Given the description of an element on the screen output the (x, y) to click on. 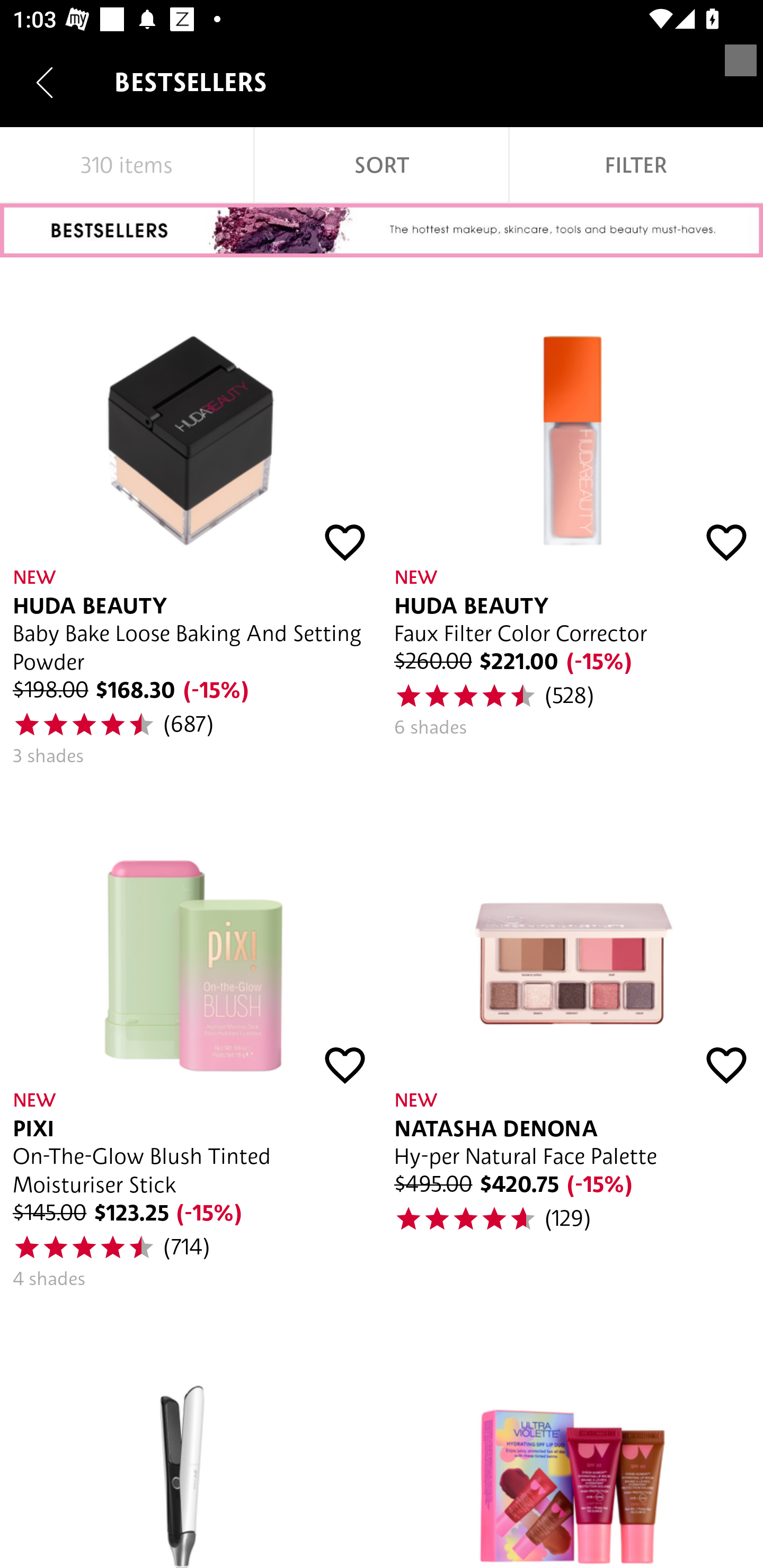
Navigate up (44, 82)
SORT (381, 165)
FILTER (636, 165)
